Given the description of an element on the screen output the (x, y) to click on. 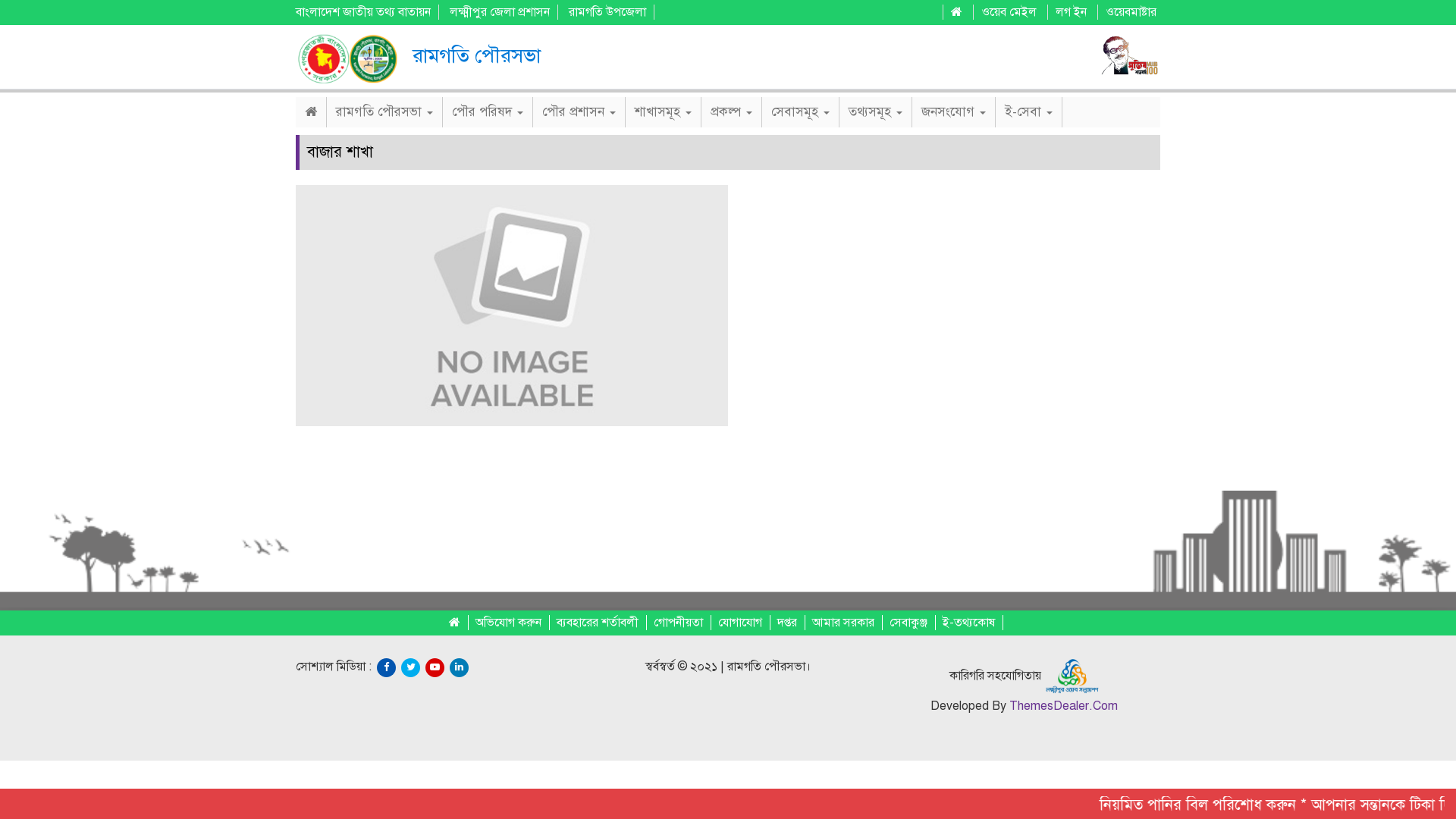
ThemesDealer.Com Element type: text (1062, 705)
